Given the description of an element on the screen output the (x, y) to click on. 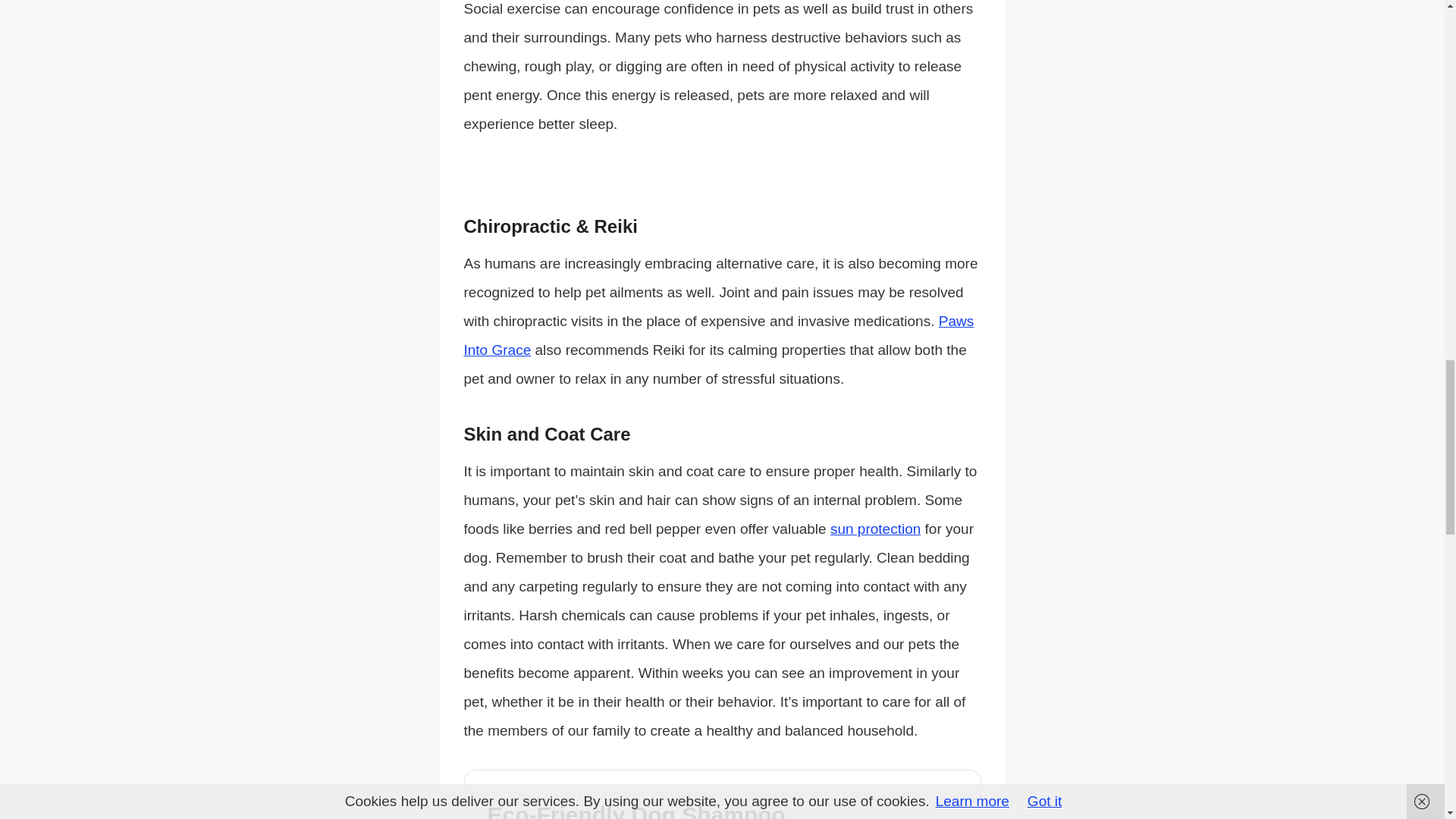
Eco-Friendly Dog Shampoo (645, 809)
sun protection (874, 528)
Paws Into Grace (719, 334)
Eco-Friendly Dog Shampoo (645, 809)
